Given the description of an element on the screen output the (x, y) to click on. 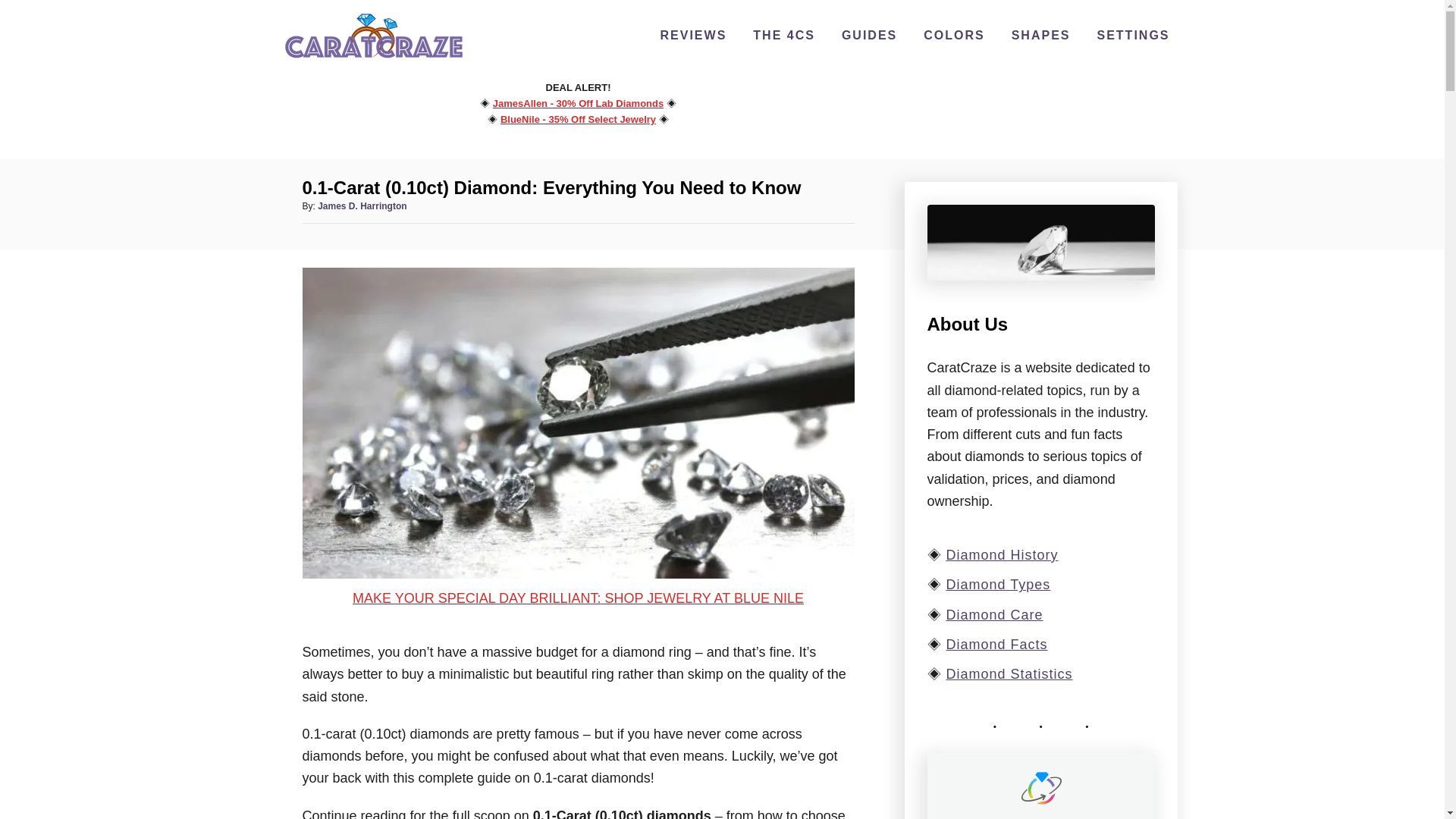
THE 4CS (783, 35)
COLORS (953, 35)
REVIEWS (693, 35)
CaratCraze (373, 59)
GUIDES (869, 35)
